Given the description of an element on the screen output the (x, y) to click on. 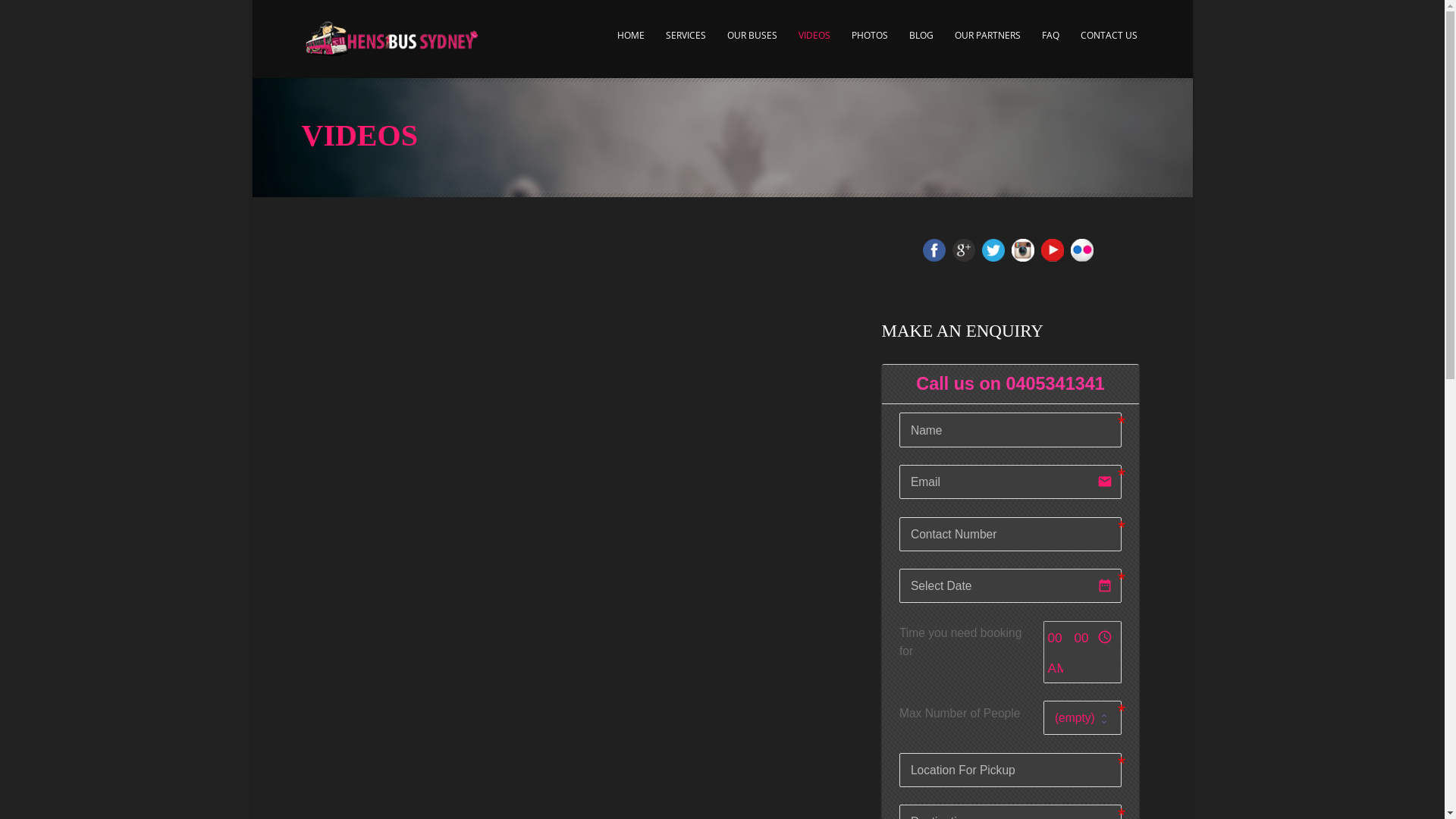
BLOG Element type: text (921, 42)
FAQ Element type: text (1049, 42)
VIDEOS Element type: text (814, 42)
HOME Element type: text (629, 42)
OUR BUSES Element type: text (752, 42)
OUR PARTNERS Element type: text (987, 42)
CONTACT US Element type: text (1108, 42)
SERVICES Element type: text (685, 42)
PHOTOS Element type: text (869, 42)
